Given the description of an element on the screen output the (x, y) to click on. 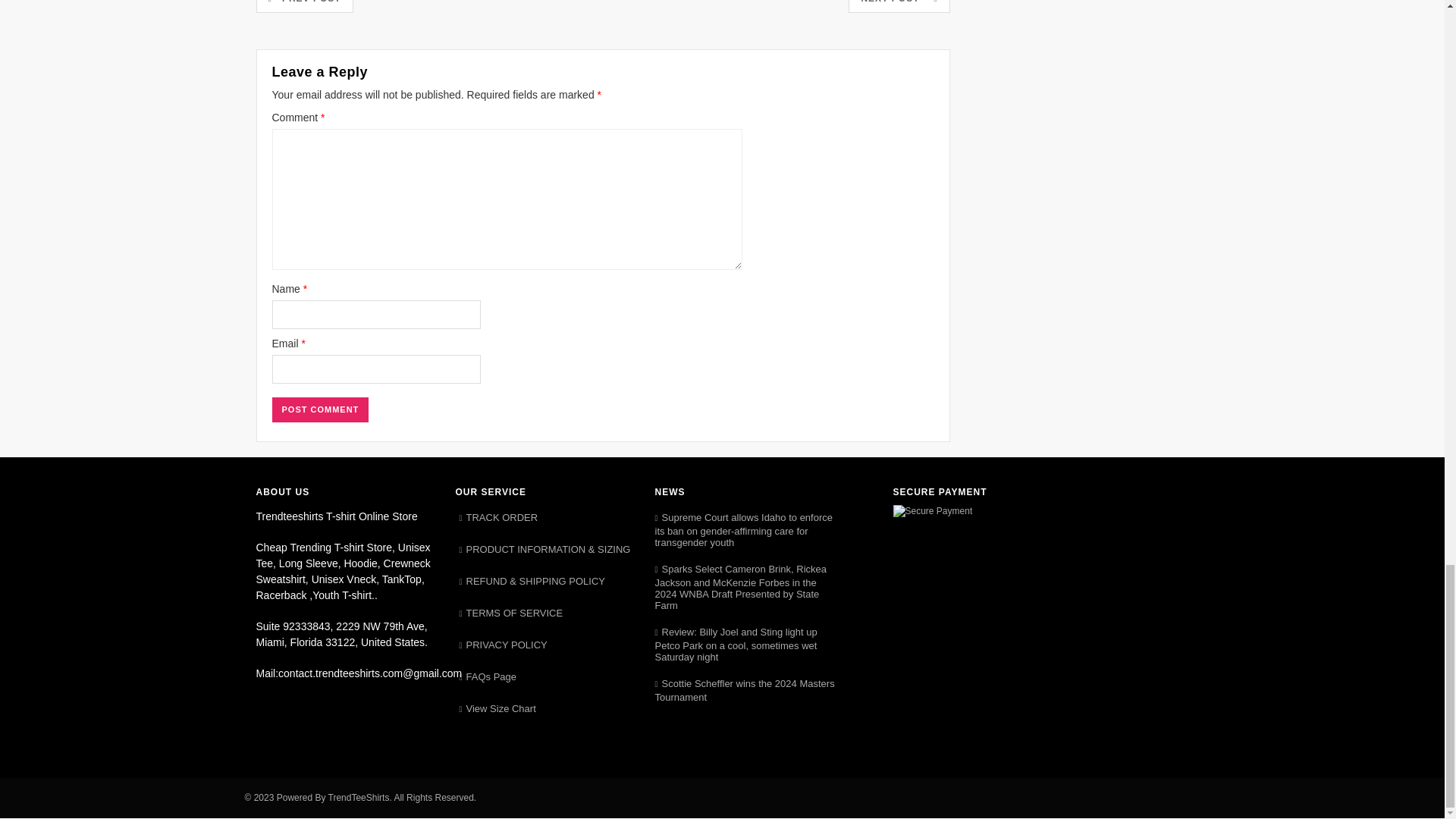
Post Comment (319, 410)
Post Comment (319, 410)
  PREV POST (304, 6)
NEXT POST   (898, 6)
